Given the description of an element on the screen output the (x, y) to click on. 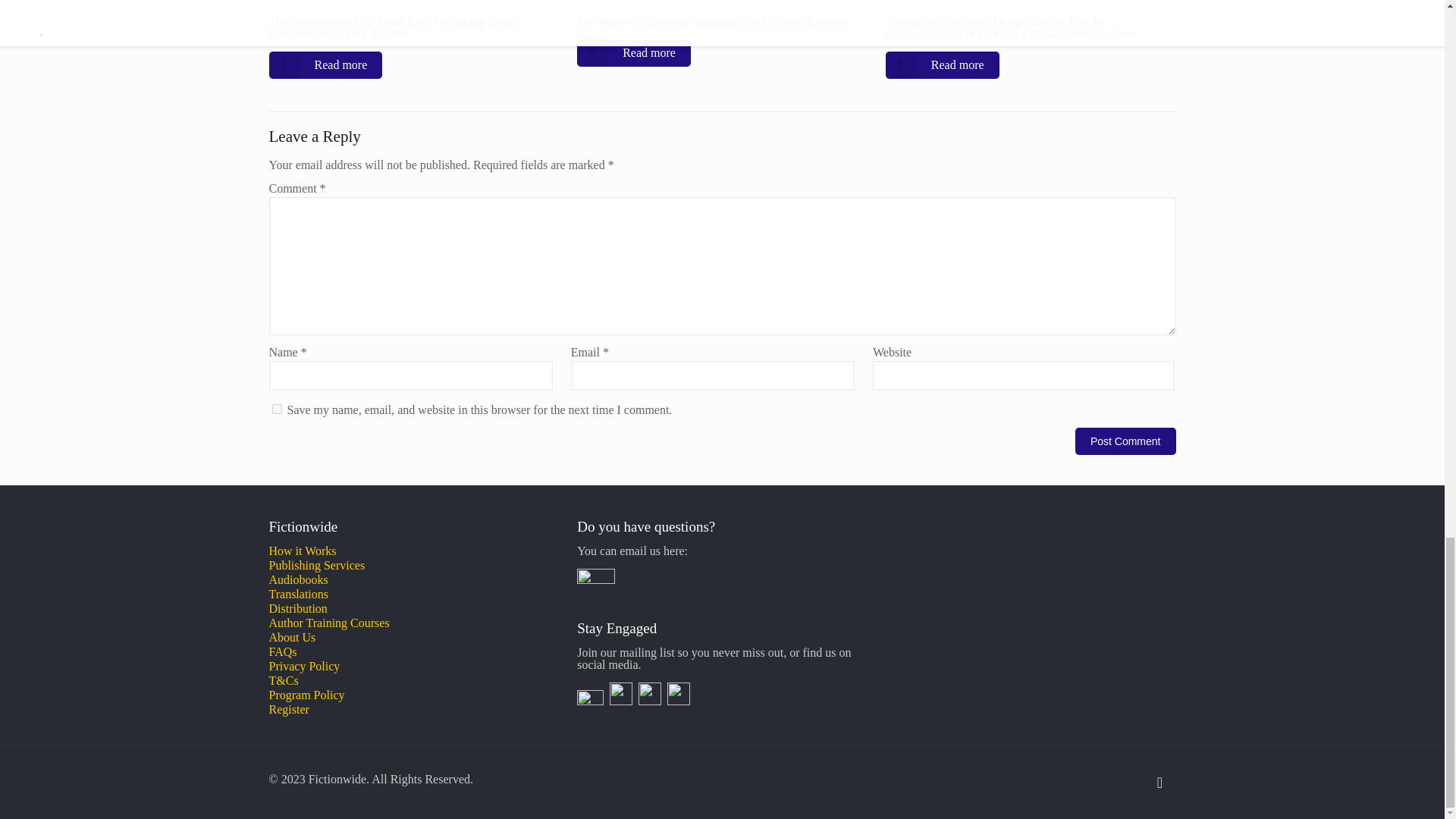
yes (275, 409)
Read more (941, 64)
Read more (633, 52)
Read more (324, 64)
The Power of Reviews: Strategies for Eliciting Reviews (712, 21)
Post Comment (1125, 441)
